Given the description of an element on the screen output the (x, y) to click on. 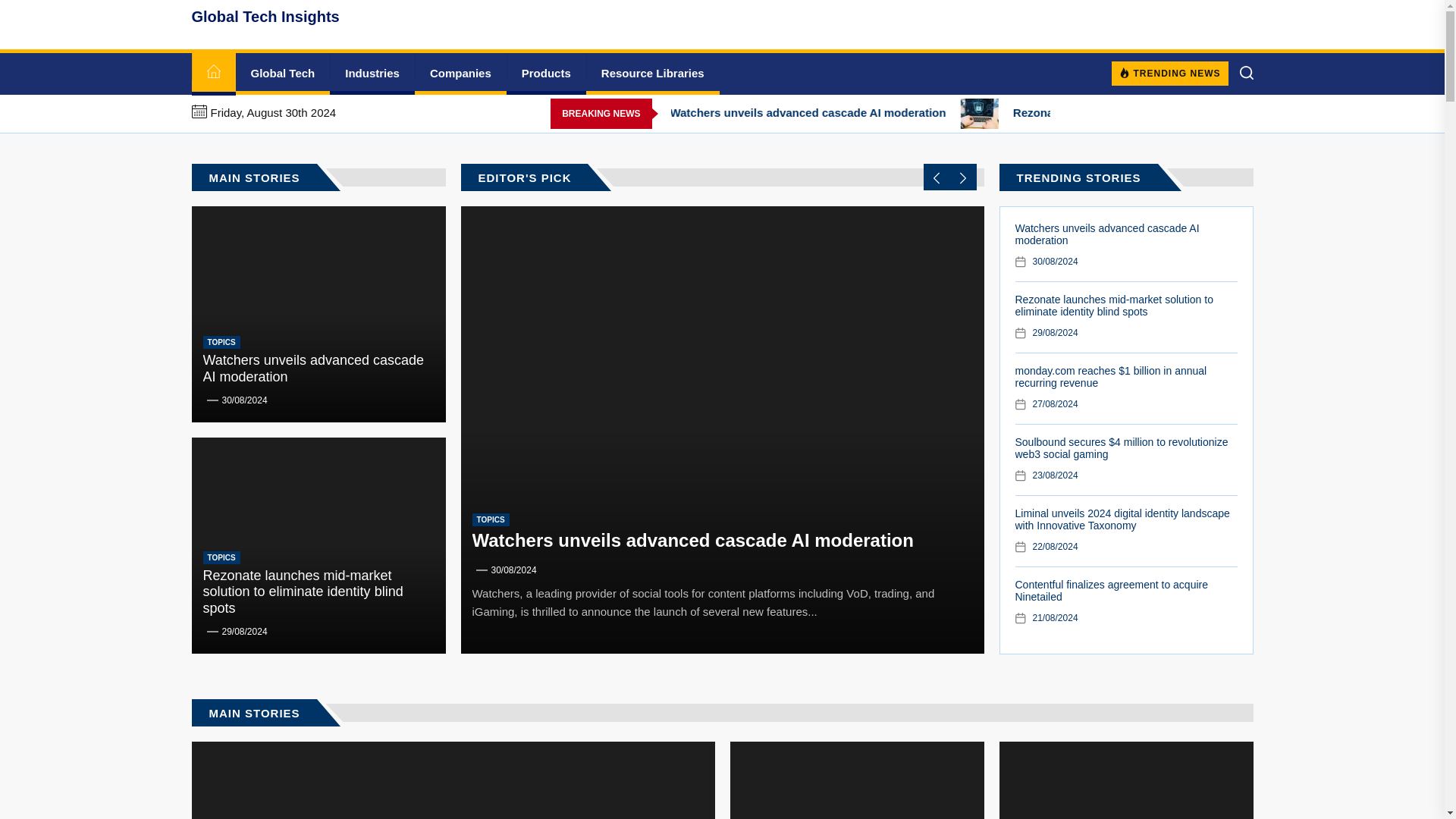
Products (546, 74)
Global Tech Insights (264, 16)
Resource Libraries (652, 74)
Home (212, 74)
Watchers unveils advanced cascade AI moderation (1026, 113)
Industries (372, 74)
TRENDING NEWS (1170, 73)
Companies (460, 74)
Global Tech (282, 74)
